Given the description of an element on the screen output the (x, y) to click on. 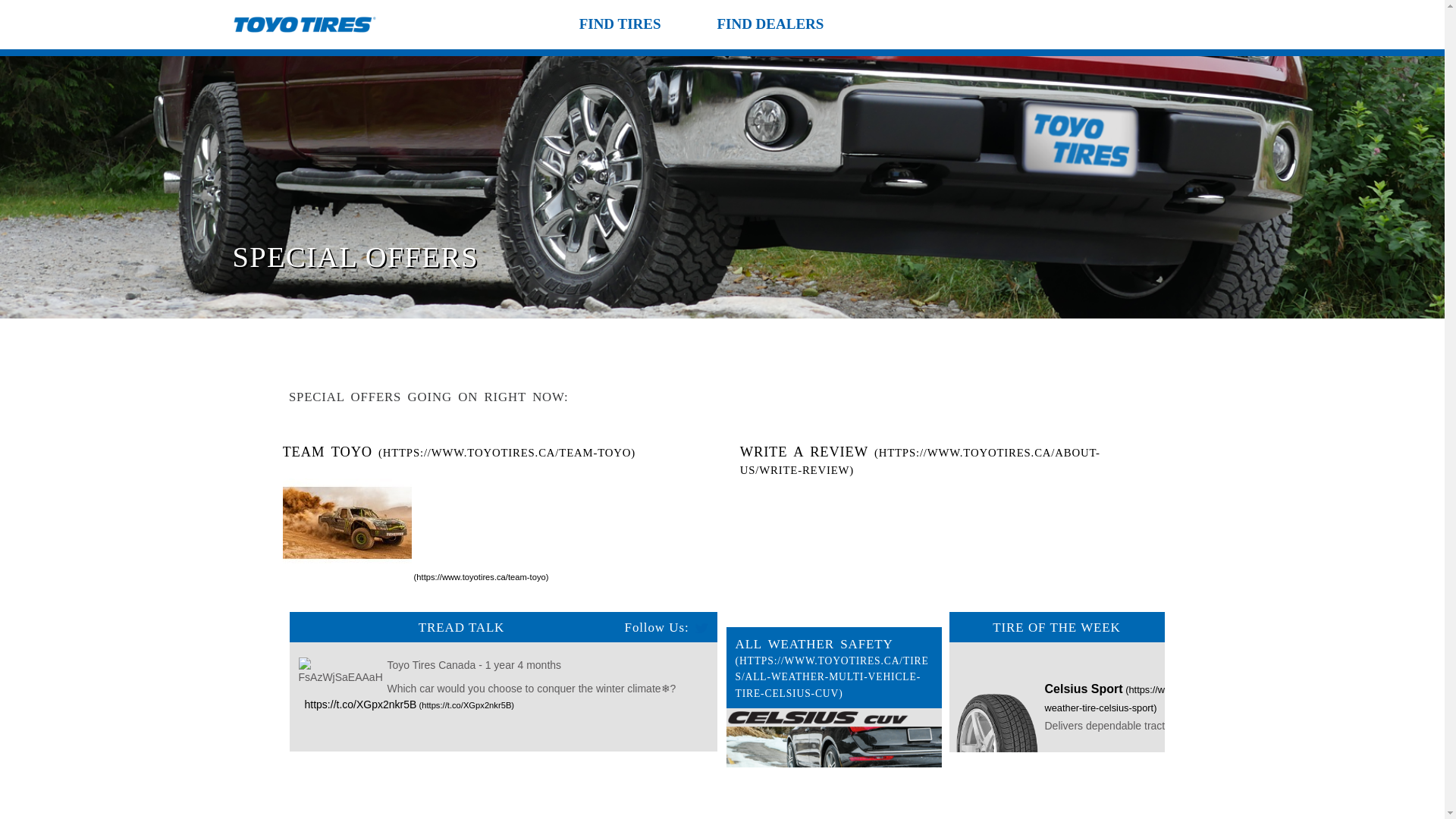
FIND TIRES (620, 24)
Home (303, 29)
FIND DEALERS (770, 24)
